Given the description of an element on the screen output the (x, y) to click on. 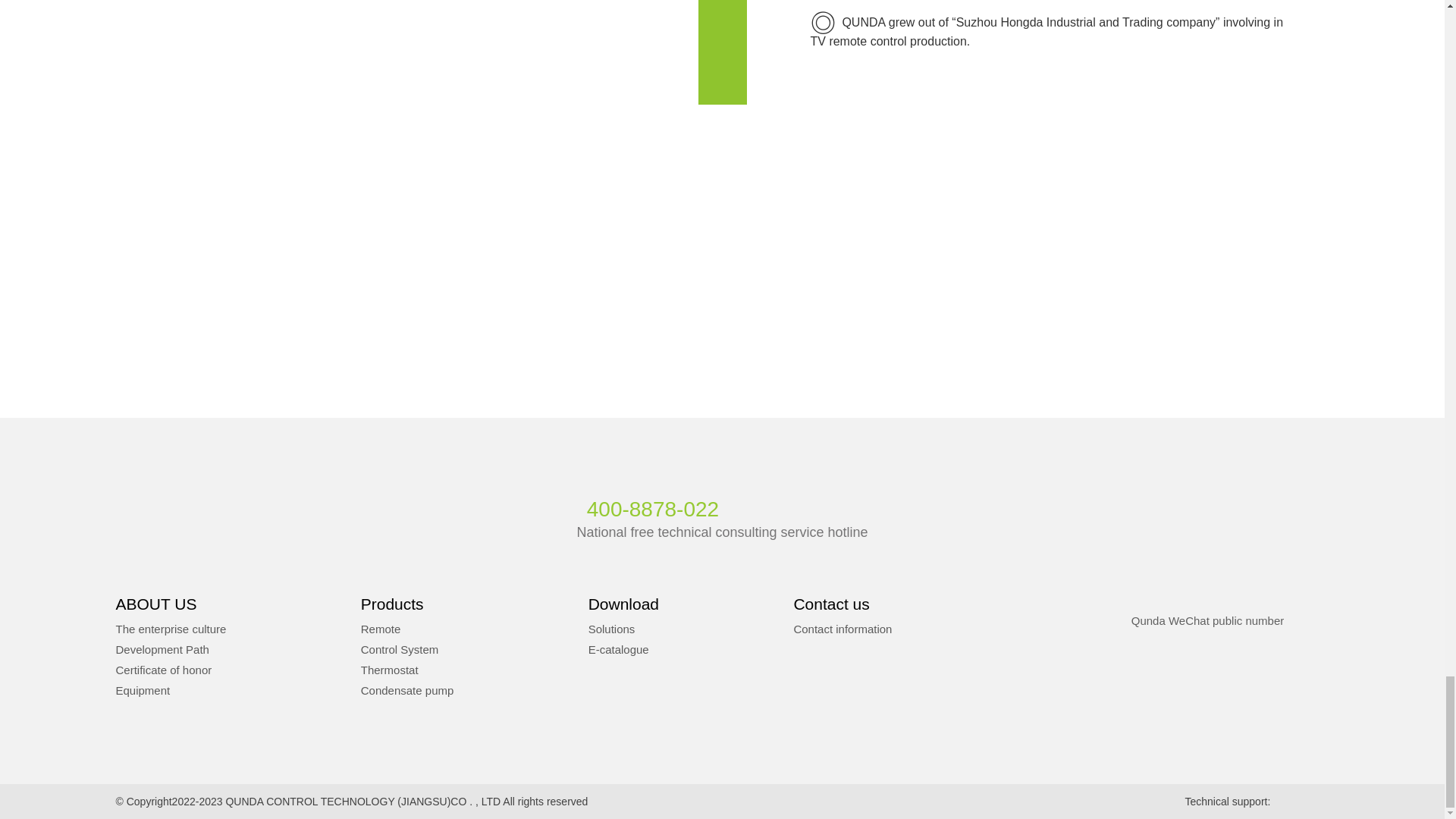
Condensate pump (407, 689)
Remote (381, 628)
Contact information (842, 628)
Contact us (831, 603)
Technical support: (1256, 801)
Solutions (611, 628)
Equipment (142, 689)
ABOUT US (155, 603)
Thermostat (390, 669)
The enterprise culture (170, 628)
Development Path (161, 649)
Certificate of honor (163, 669)
Download (623, 603)
Control System (400, 649)
Products (392, 603)
